Given the description of an element on the screen output the (x, y) to click on. 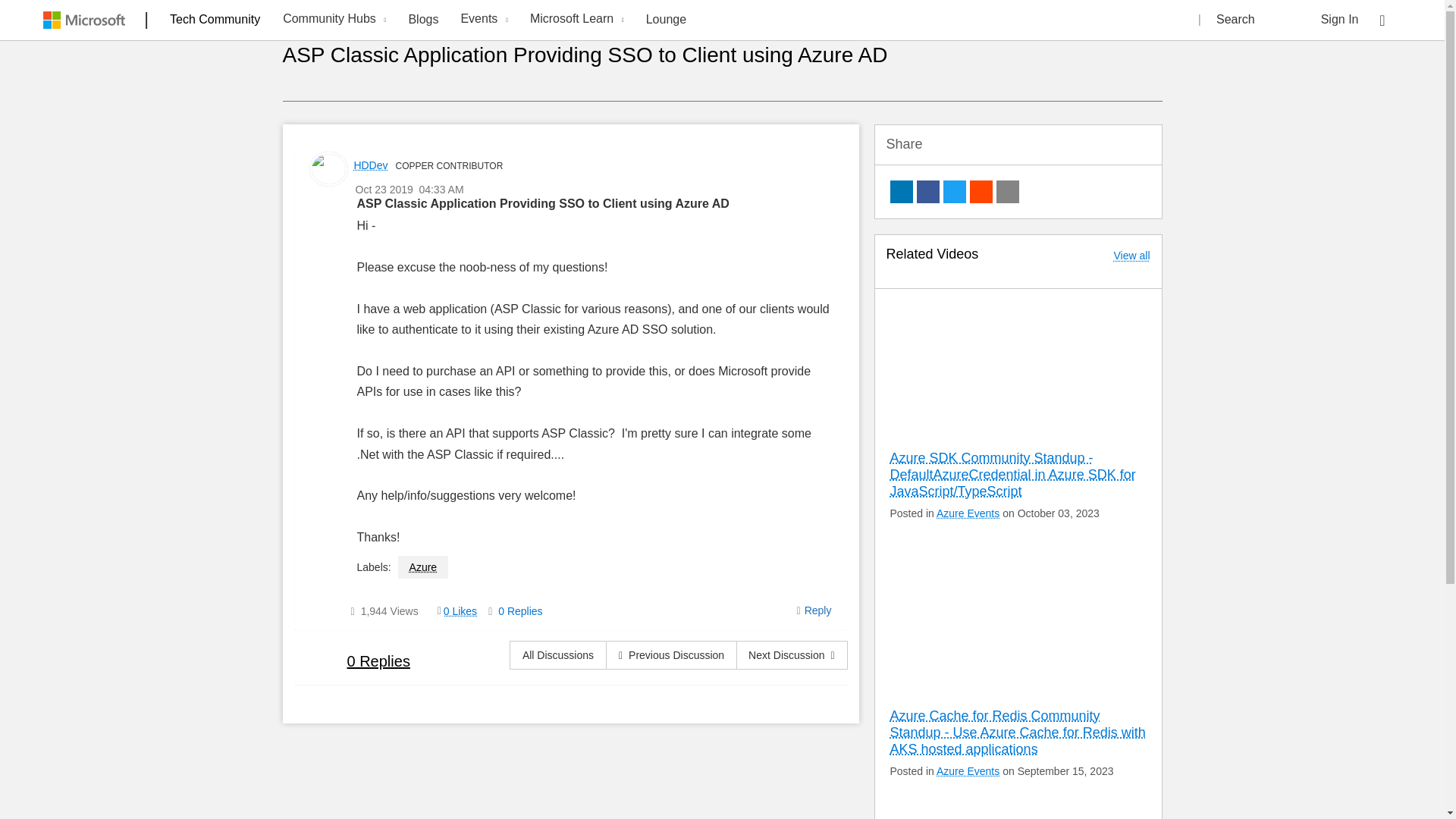
Community Hubs (332, 19)
Tech Community (215, 18)
